Given the description of an element on the screen output the (x, y) to click on. 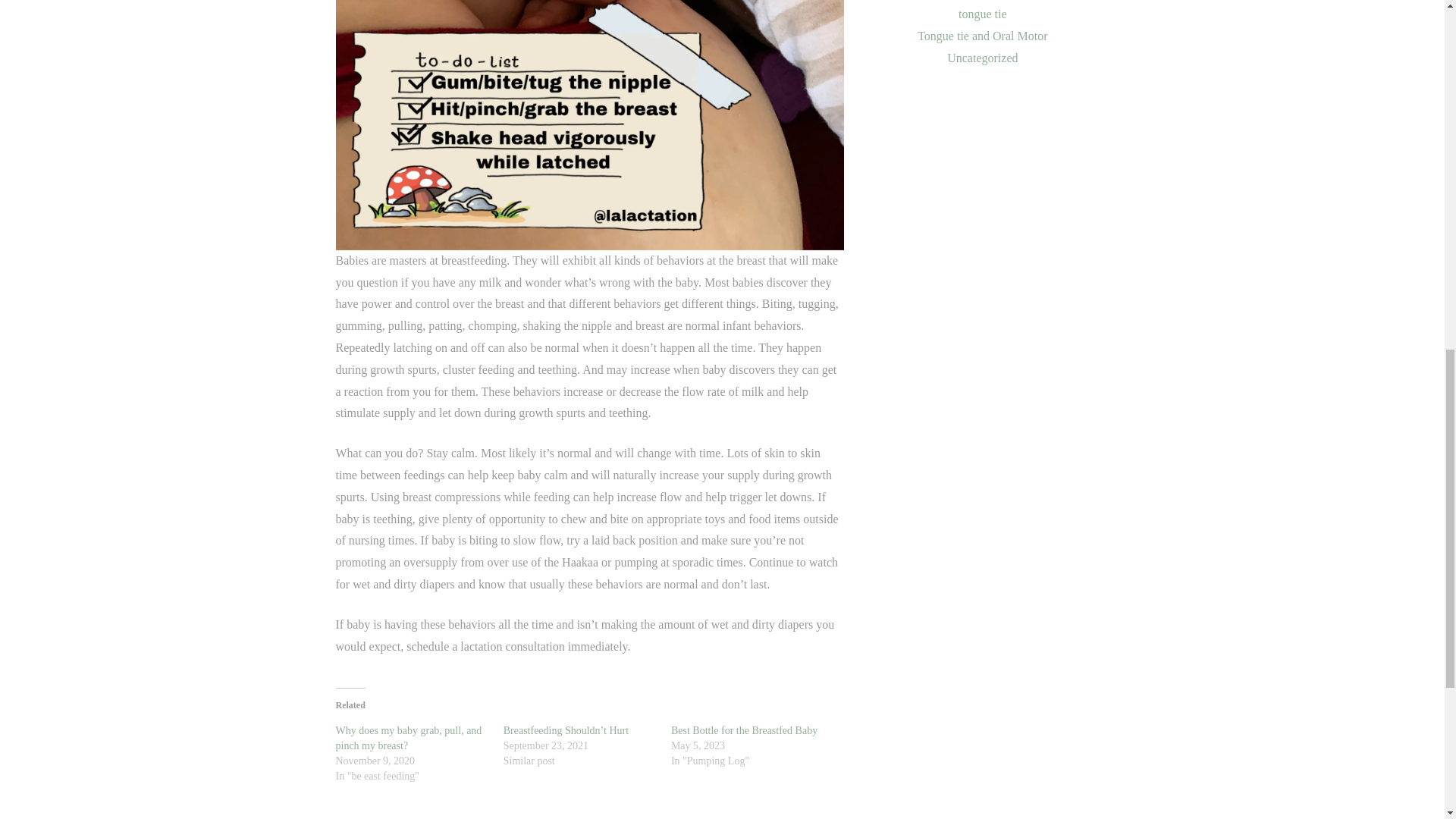
Best Bottle for the Breastfed Baby (743, 730)
Why does my baby grab, pull, and pinch my breast? (407, 737)
Why does my baby grab, pull, and pinch my breast? (407, 737)
Best Bottle for the Breastfed Baby (743, 730)
